Given the description of an element on the screen output the (x, y) to click on. 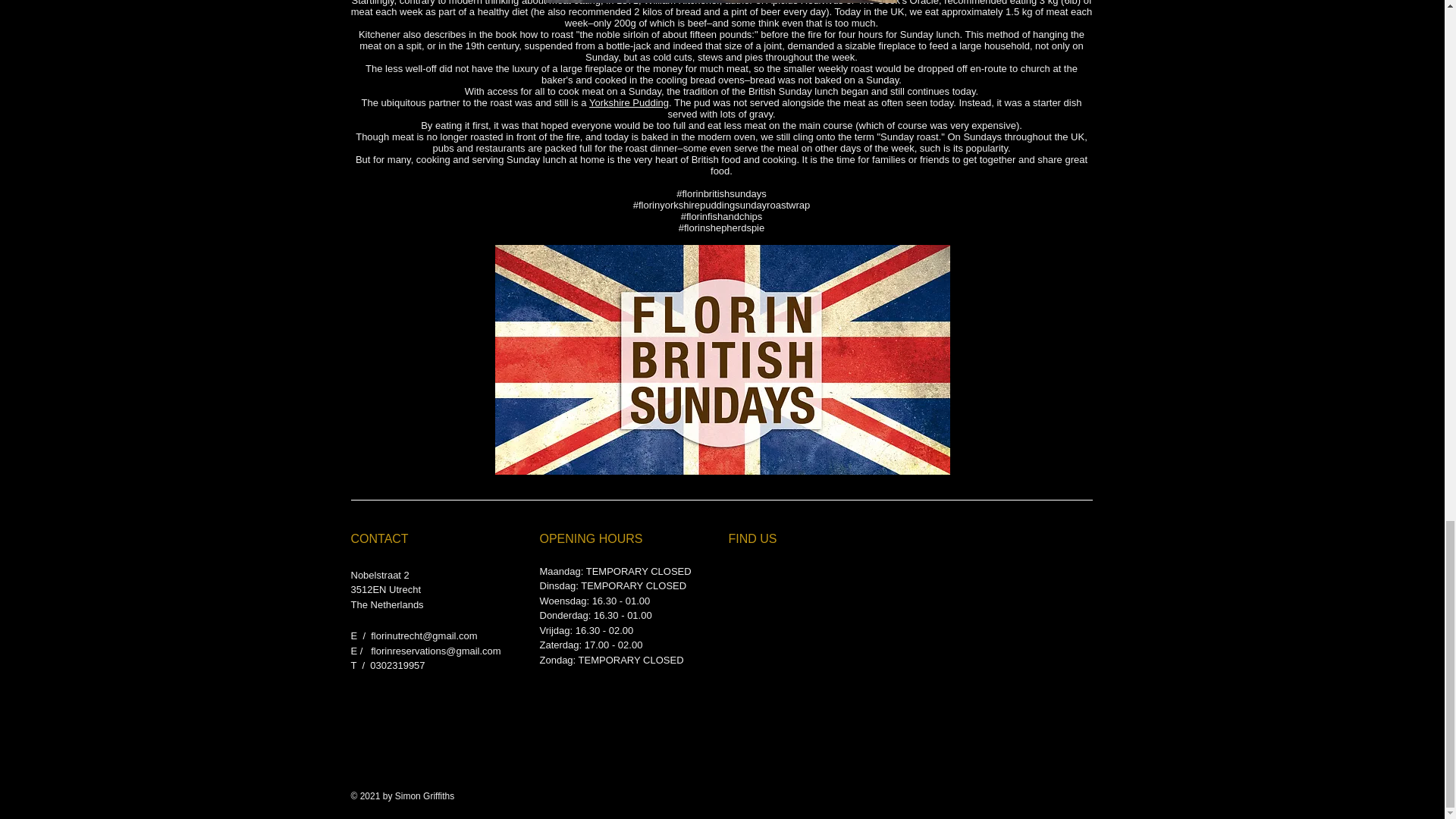
Yorkshire Pudding (628, 102)
